Given the description of an element on the screen output the (x, y) to click on. 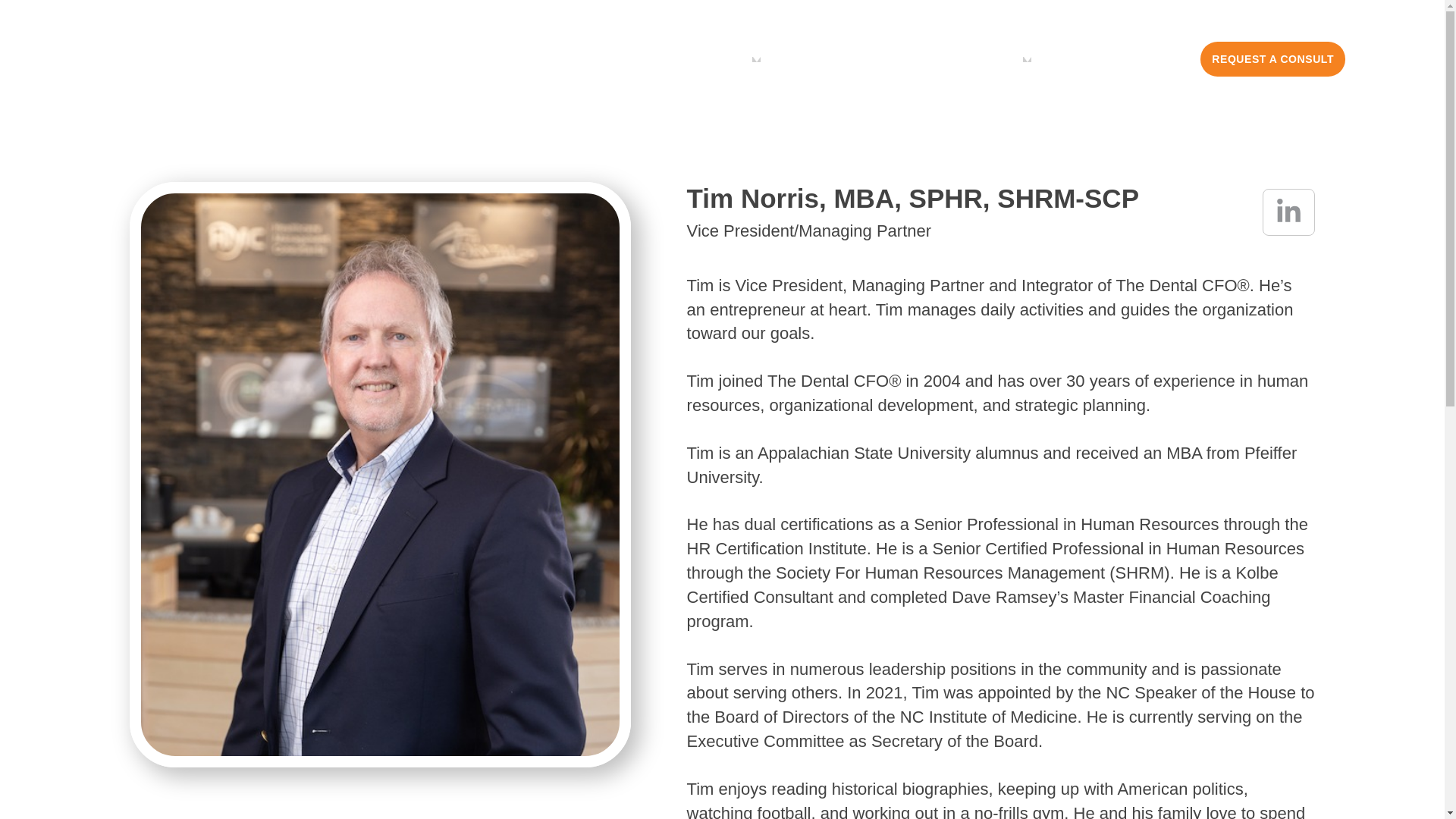
RESOURCES (967, 58)
SERVICES (705, 58)
SHOW SUBMENU FOR RESOURCES (1026, 59)
ABOUT (838, 58)
CLIENT LOGIN (1134, 58)
REQUEST A CONSULT (1272, 58)
SHOW SUBMENU FOR SERVICES (756, 59)
Group 318 (211, 55)
